Given the description of an element on the screen output the (x, y) to click on. 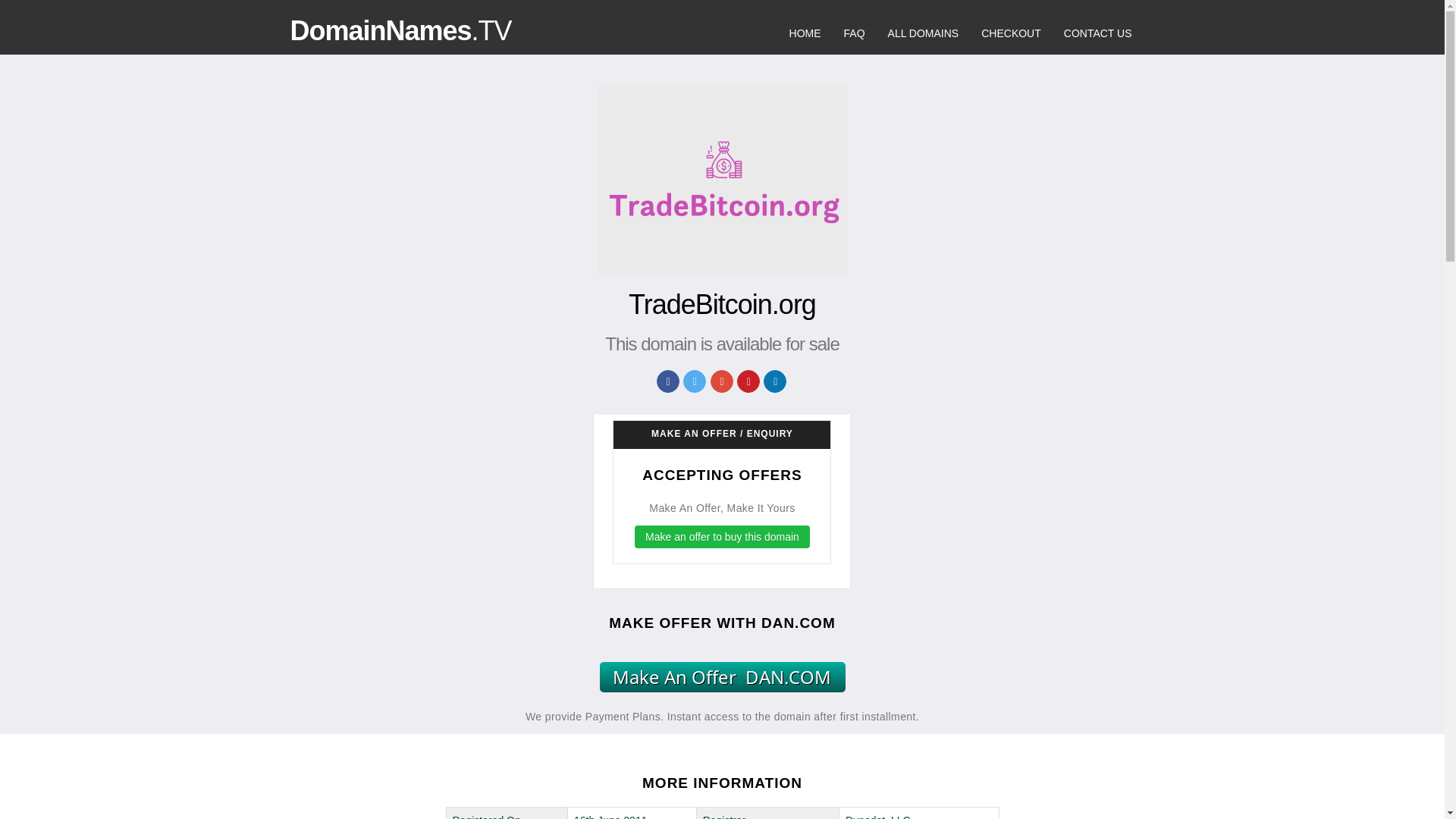
FAQ (854, 33)
DomainNames.TV (400, 30)
CONTACT US (1097, 33)
Make An Offer - DAN.COM (721, 676)
ALL DOMAINS (923, 33)
CHECKOUT (1010, 33)
HOME (804, 33)
Make an offer to buy this domain (721, 536)
